Given the description of an element on the screen output the (x, y) to click on. 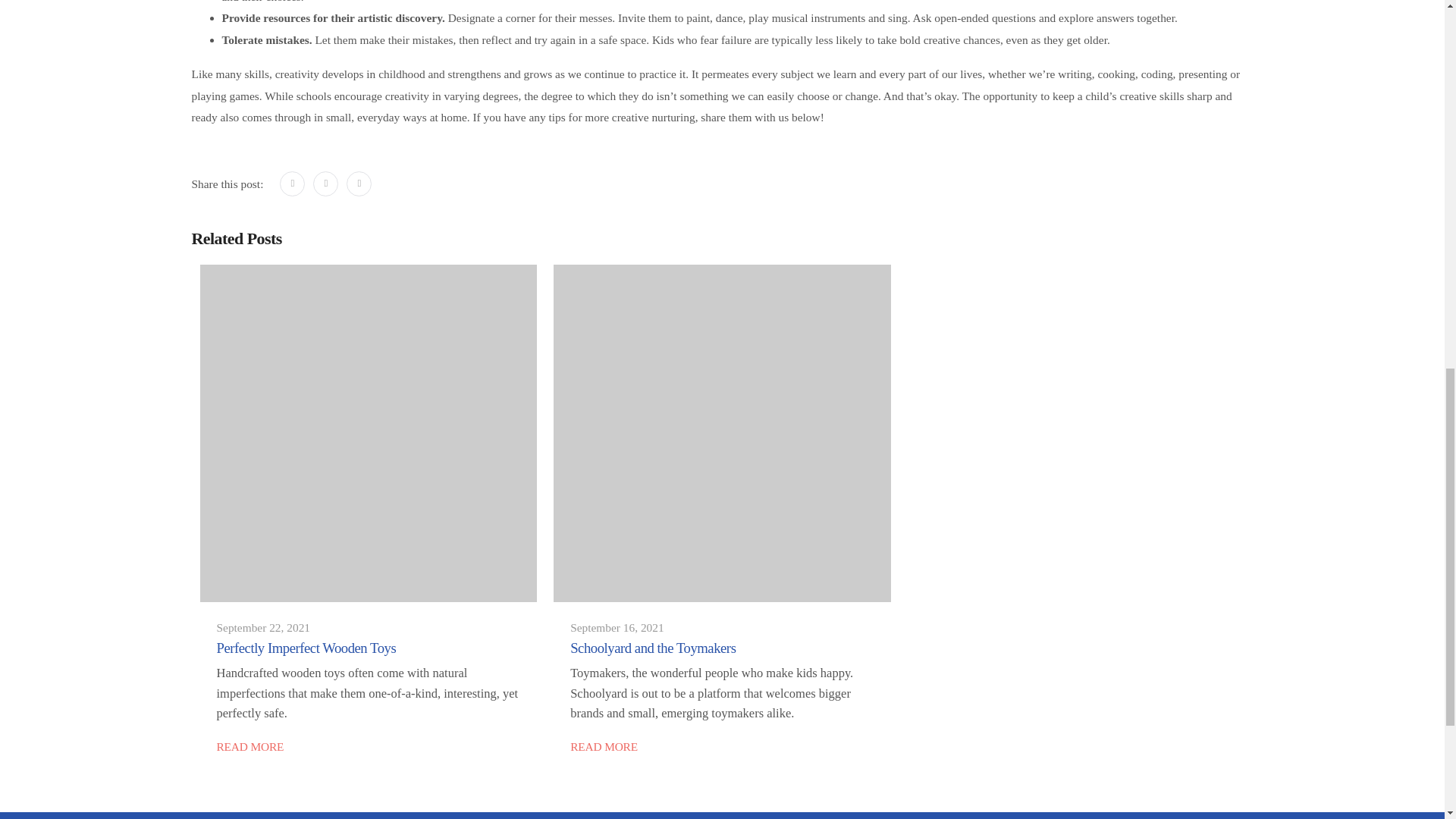
Pinterest (358, 183)
READ MORE (603, 747)
Twitter (325, 183)
READ MORE (249, 747)
Facebook (291, 183)
